Given the description of an element on the screen output the (x, y) to click on. 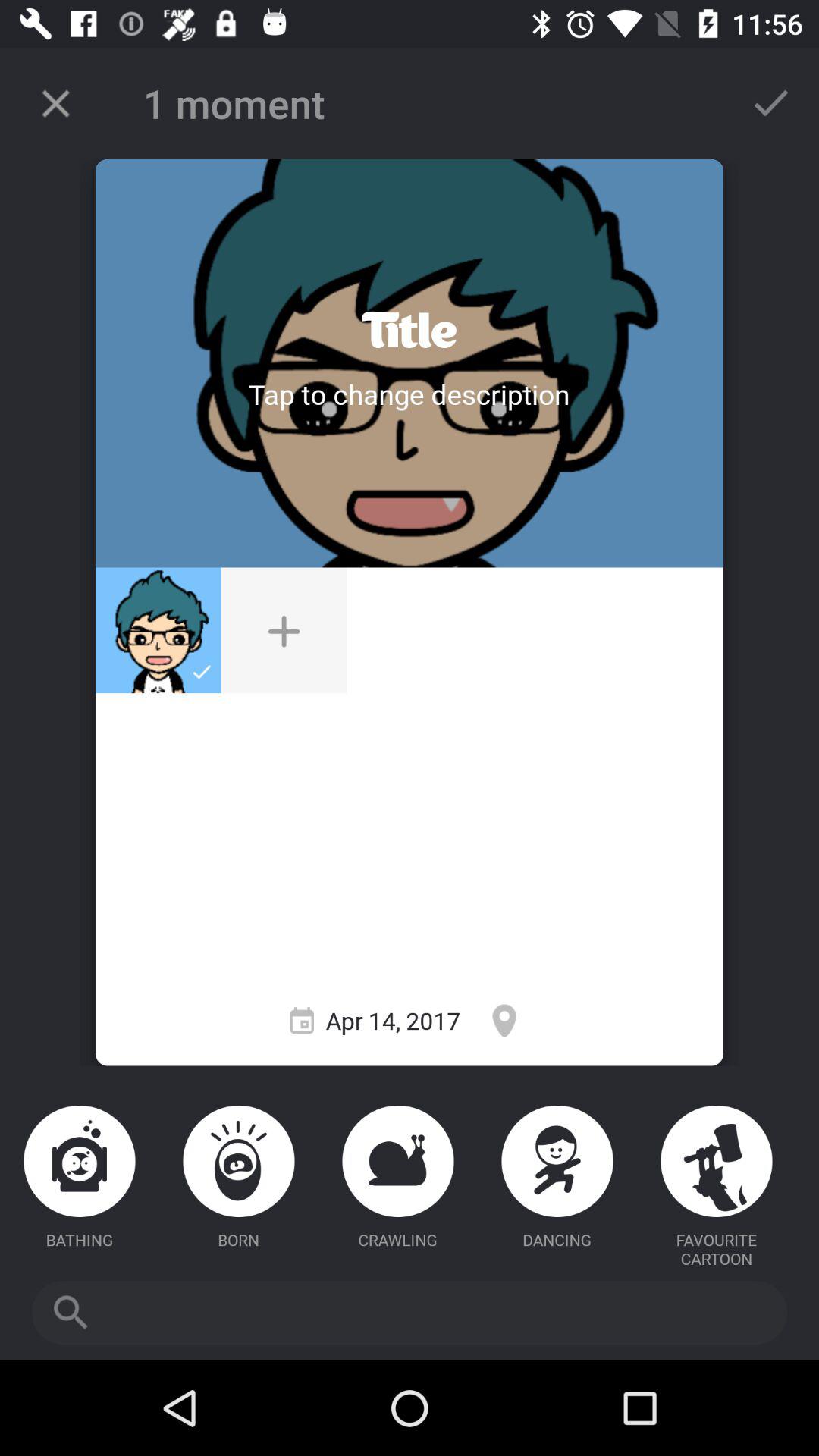
tap a title (408, 393)
